Given the description of an element on the screen output the (x, y) to click on. 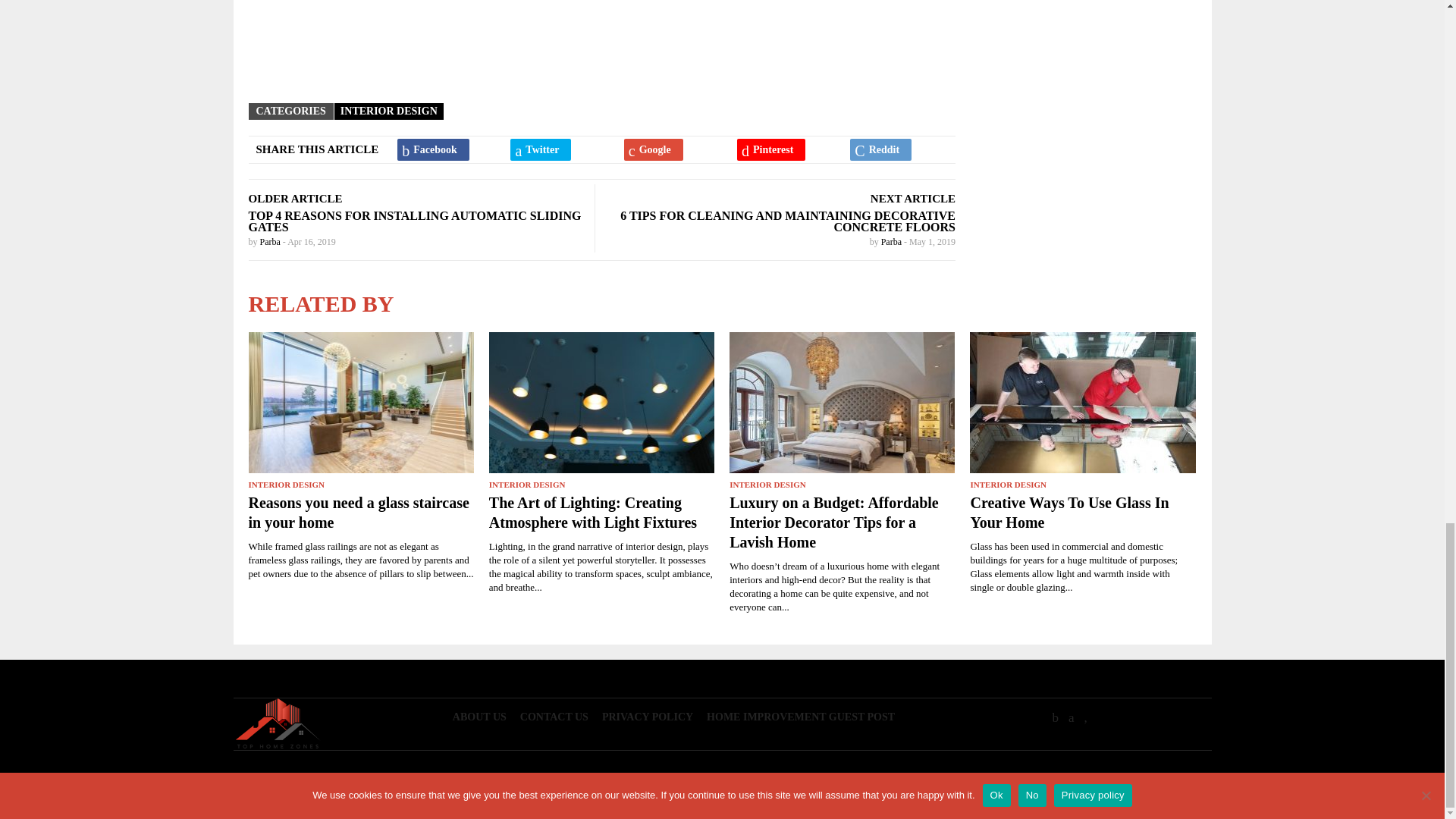
INTERIOR DESIGN (389, 111)
NEXT ARTICLE (912, 198)
TOP 4 REASONS FOR INSTALLING AUTOMATIC SLIDING GATES (414, 221)
Parba (270, 241)
OLDER ARTICLE (295, 198)
